Given the description of an element on the screen output the (x, y) to click on. 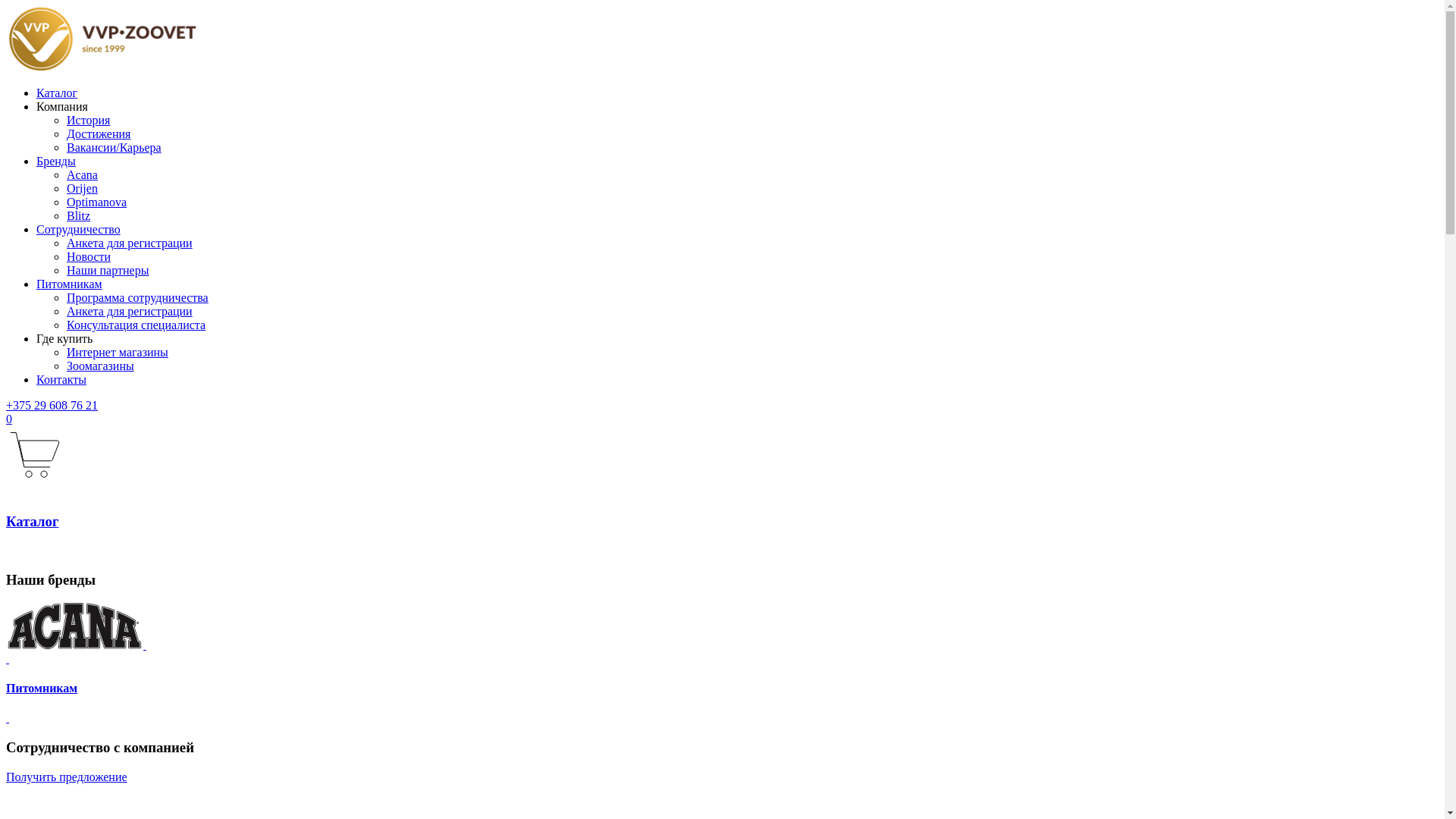
+375 29 608 76 21 Element type: text (51, 404)
Acana Element type: text (81, 174)
0 Element type: text (722, 448)
Orijen Element type: text (81, 188)
Optimanova Element type: text (96, 201)
Blitz Element type: text (78, 215)
